Given the description of an element on the screen output the (x, y) to click on. 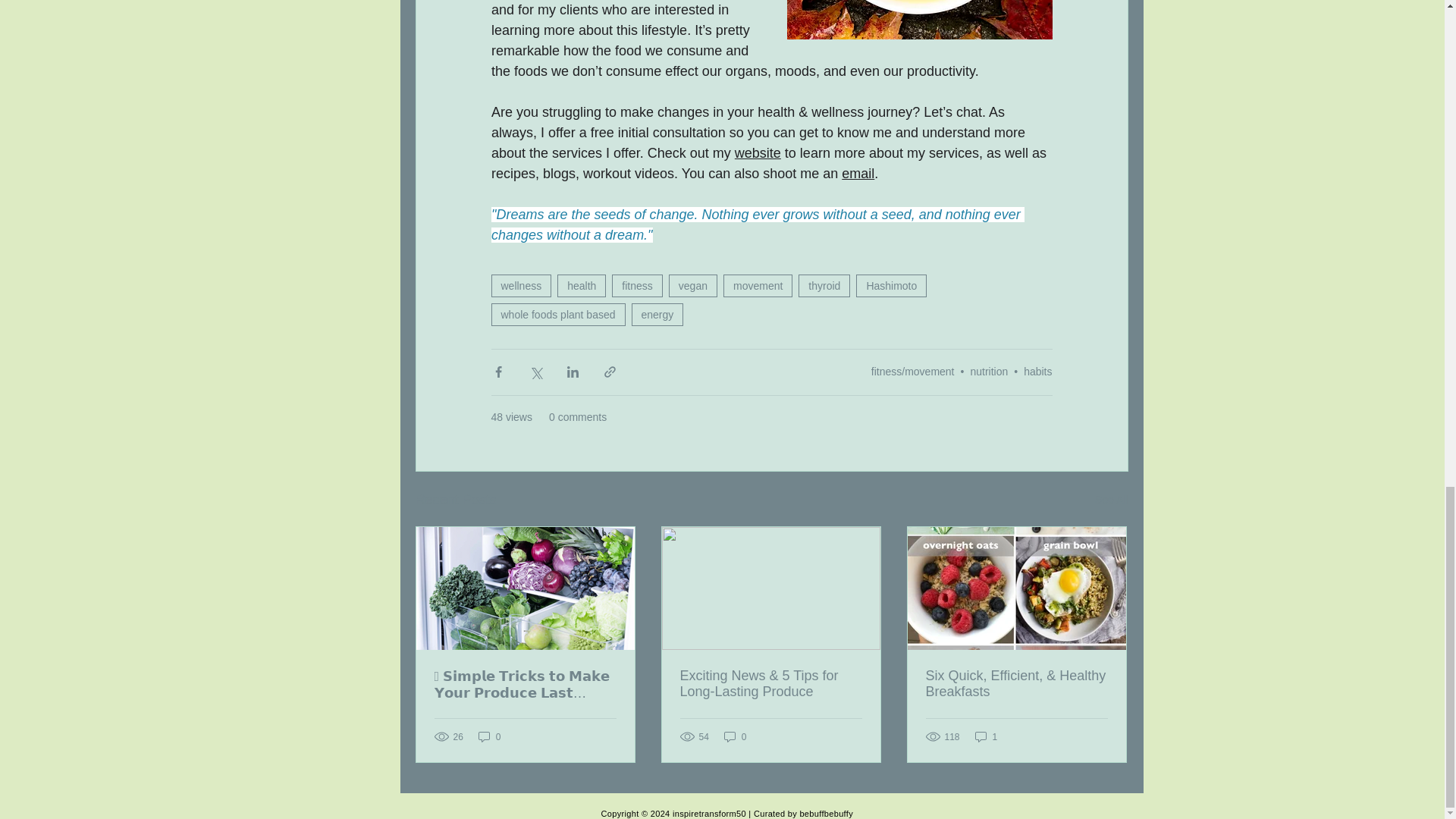
thyroid (823, 285)
wellness (521, 285)
whole foods plant based (559, 314)
fitness (636, 285)
vegan (692, 285)
Hashimoto (891, 285)
website (756, 152)
health (581, 285)
movement (757, 285)
email (858, 173)
